Given the description of an element on the screen output the (x, y) to click on. 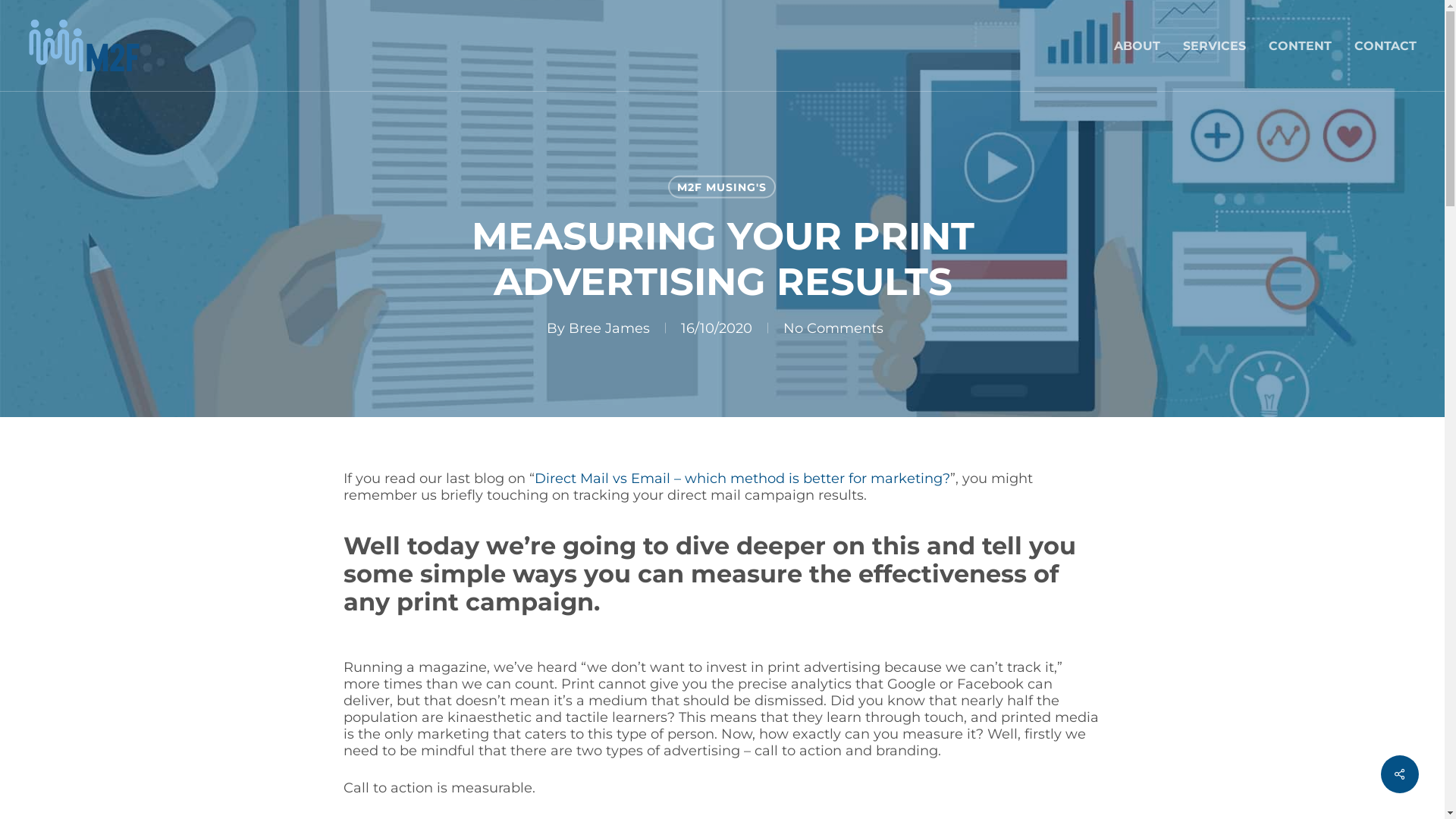
SERVICES Element type: text (1214, 45)
M2F MUSING'S Element type: text (721, 186)
Bree James Element type: text (608, 328)
ABOUT Element type: text (1136, 45)
CONTENT Element type: text (1300, 45)
CONTACT Element type: text (1385, 45)
No Comments Element type: text (832, 328)
